Given the description of an element on the screen output the (x, y) to click on. 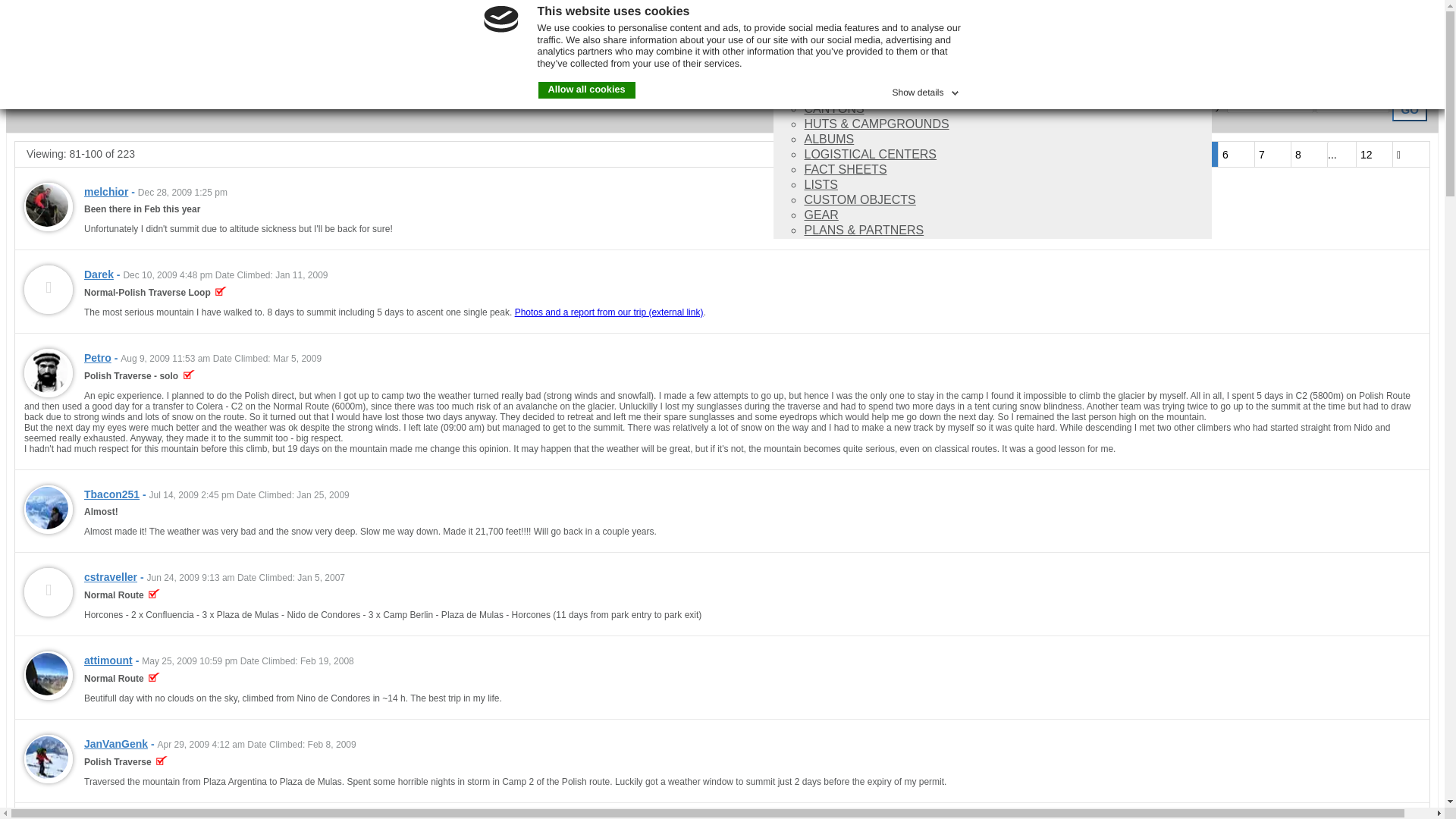
Show details (925, 89)
Allow all cookies (586, 89)
 Go  (1408, 109)
